Given the description of an element on the screen output the (x, y) to click on. 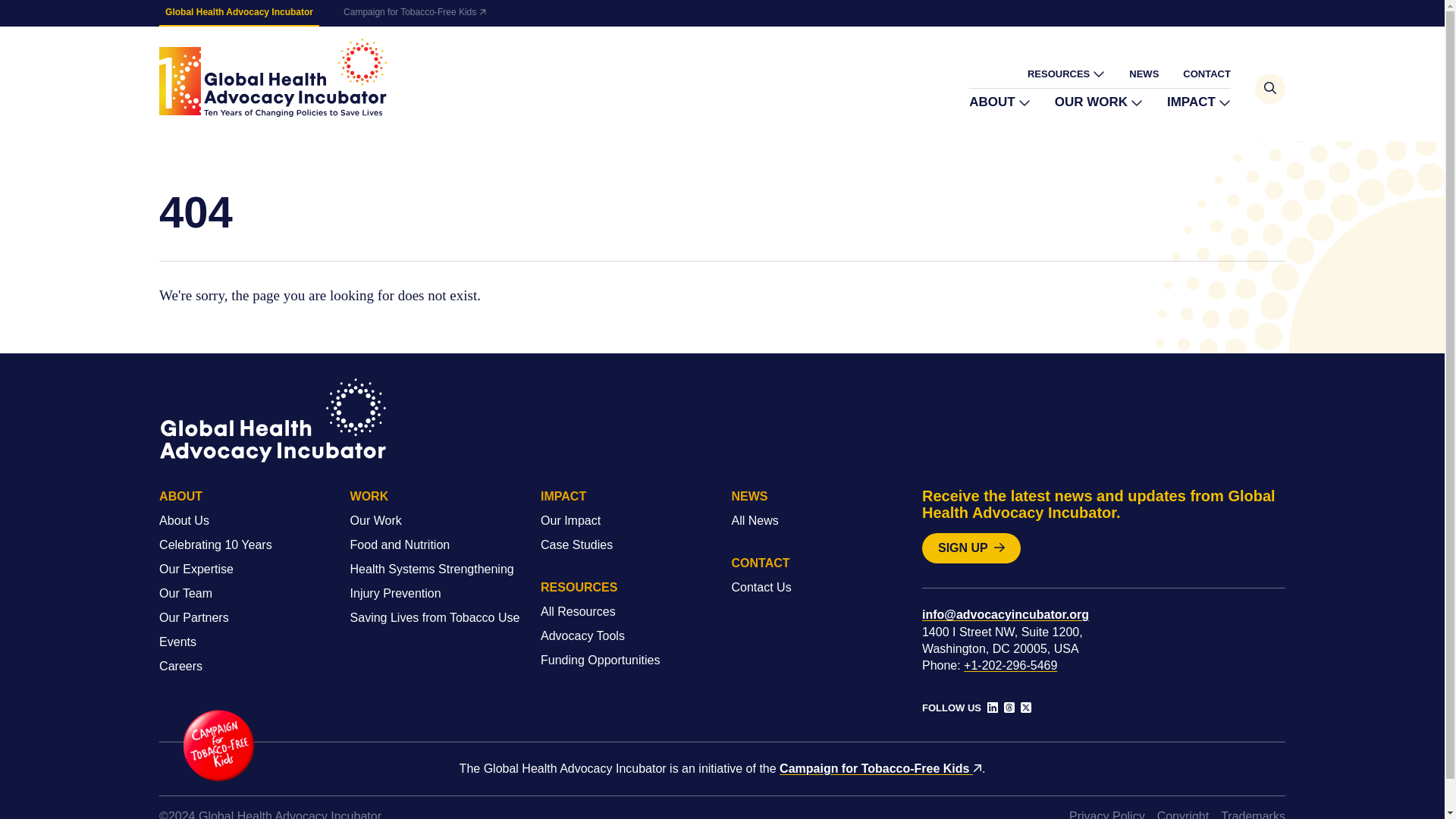
CONTACT (1206, 73)
Global Health Advocacy Incubator (272, 77)
OUR WORK (1098, 102)
ABOUT (999, 102)
Global Health Advocacy Incubator (238, 13)
RESOURCES (1066, 74)
NEWS (1143, 73)
Campaign for Tobacco-Free Kids (414, 12)
